Given the description of an element on the screen output the (x, y) to click on. 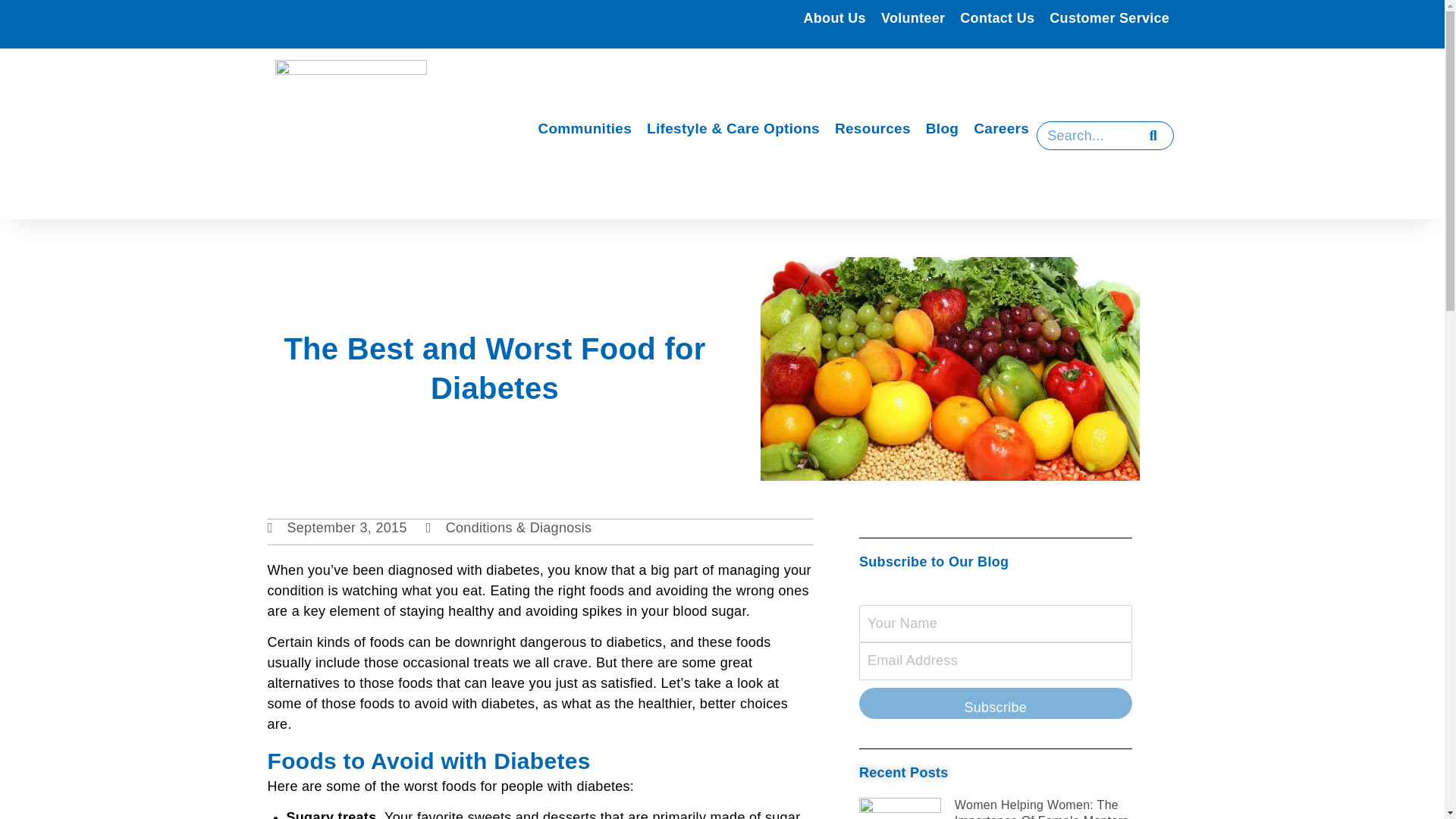
Contact Us (997, 18)
Customer Service (1109, 18)
About Us (834, 18)
Communities (584, 128)
Volunteer (912, 18)
